Given the description of an element on the screen output the (x, y) to click on. 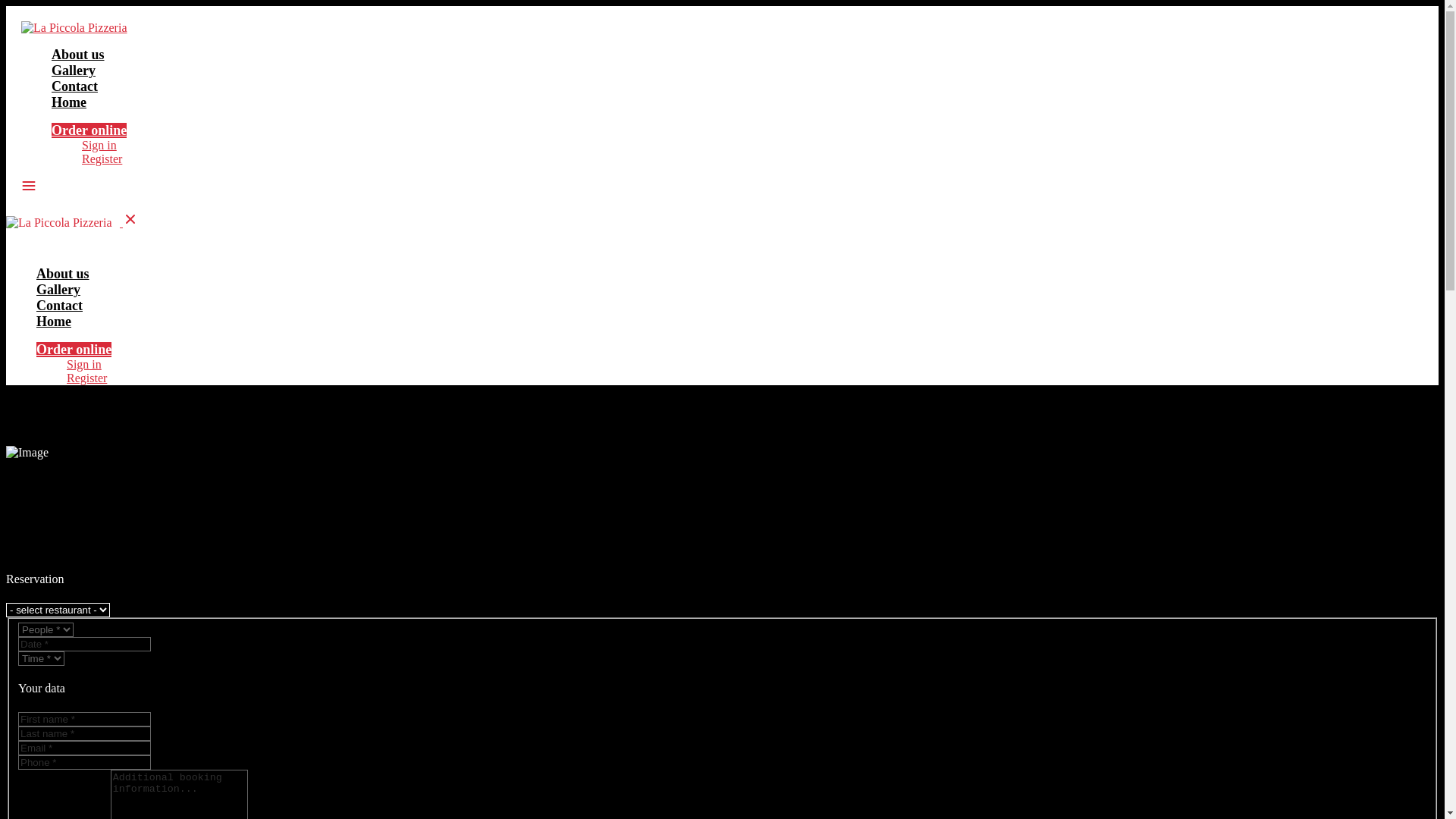
Gallery Element type: text (73, 70)
About us Element type: text (62, 273)
Order online Element type: text (88, 130)
Order online Element type: text (73, 349)
About us Element type: text (77, 54)
Register Element type: text (86, 377)
Register Element type: text (101, 158)
Sign in Element type: text (98, 144)
Home Element type: text (68, 101)
Gallery Element type: text (58, 289)
Sign in Element type: text (83, 363)
Home Element type: text (53, 321)
Contact Element type: text (74, 86)
Contact Element type: text (59, 305)
